Given the description of an element on the screen output the (x, y) to click on. 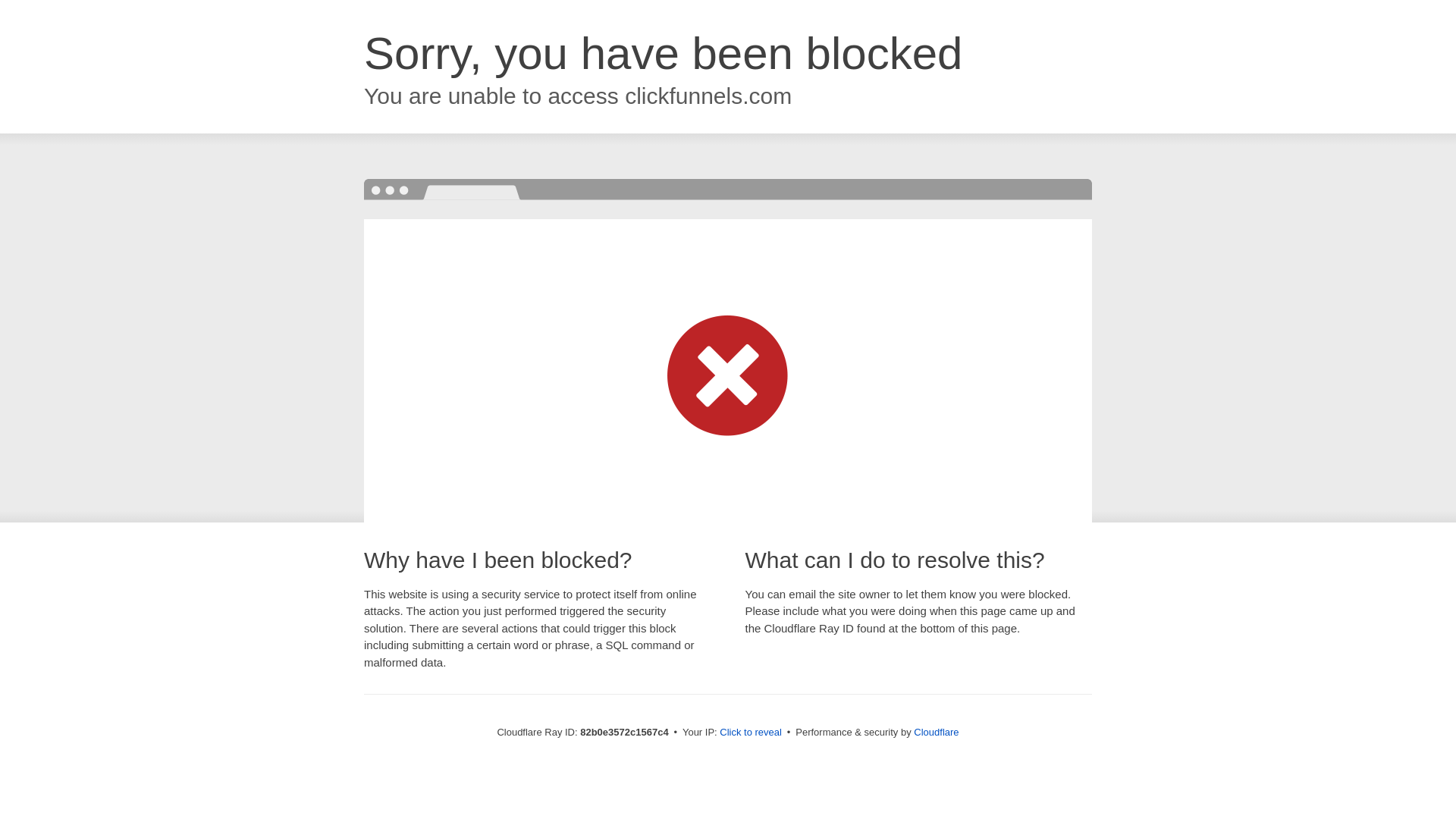
Cloudflare Element type: text (935, 731)
Click to reveal Element type: text (750, 732)
